Given the description of an element on the screen output the (x, y) to click on. 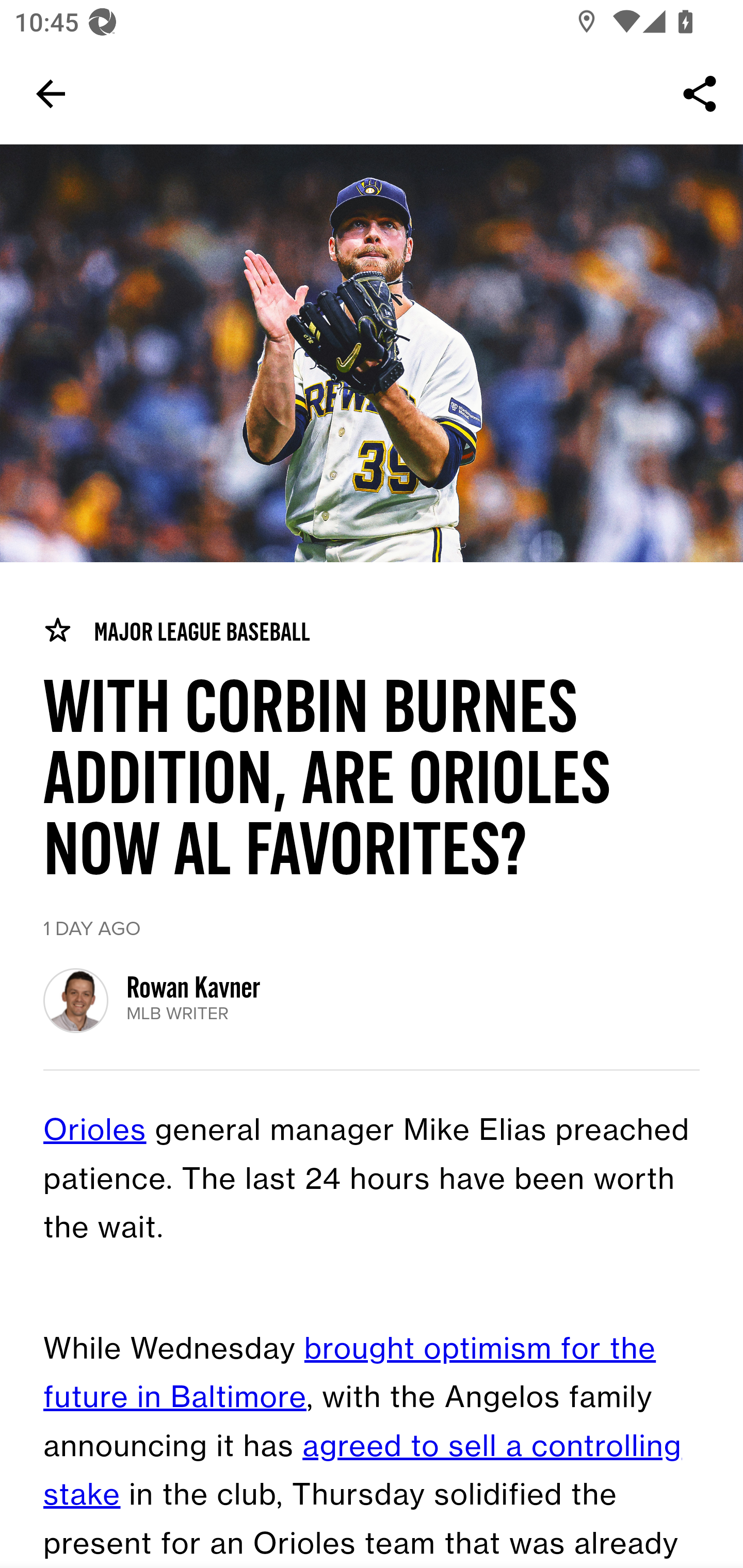
Navigate up (50, 93)
Share (699, 93)
MAJOR LEAGUE BASEBALL (176, 630)
Orioles (95, 1131)
brought optimism for the future in Baltimore (350, 1374)
agreed to sell a controlling stake (362, 1471)
